Given the description of an element on the screen output the (x, y) to click on. 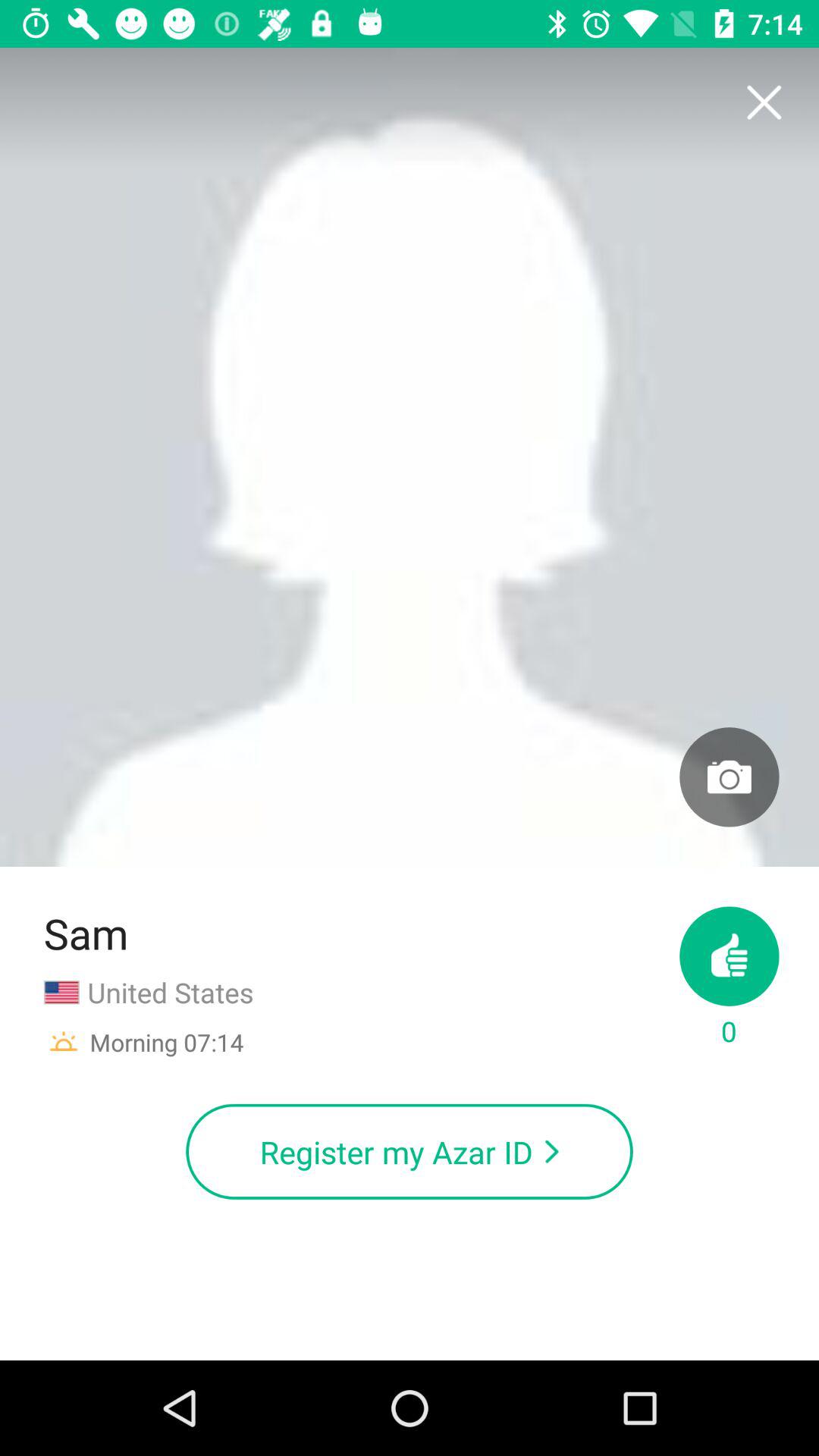
add profile photo (729, 776)
